Given the description of an element on the screen output the (x, y) to click on. 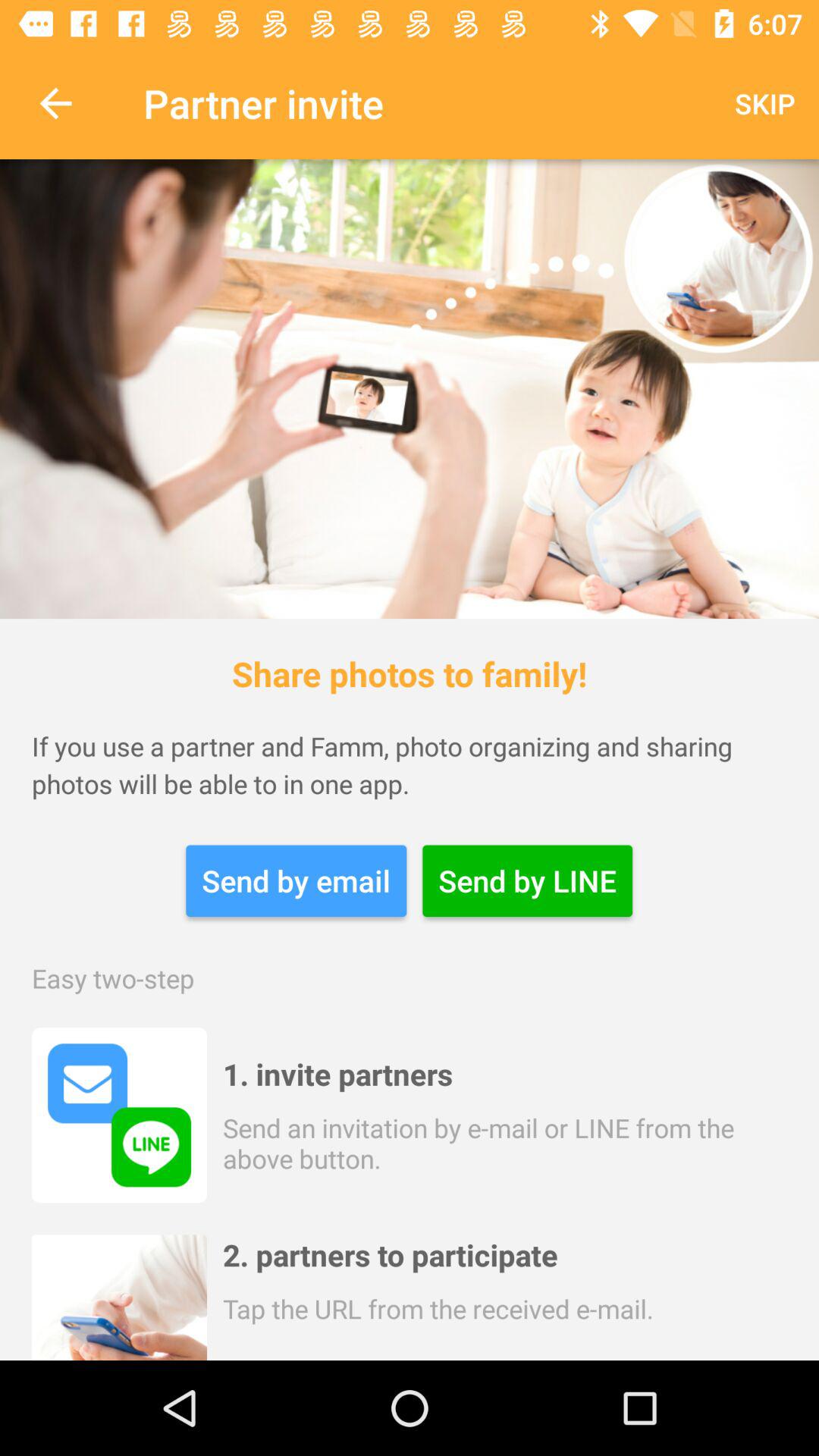
click the icon next to the partner invite (764, 103)
